Given the description of an element on the screen output the (x, y) to click on. 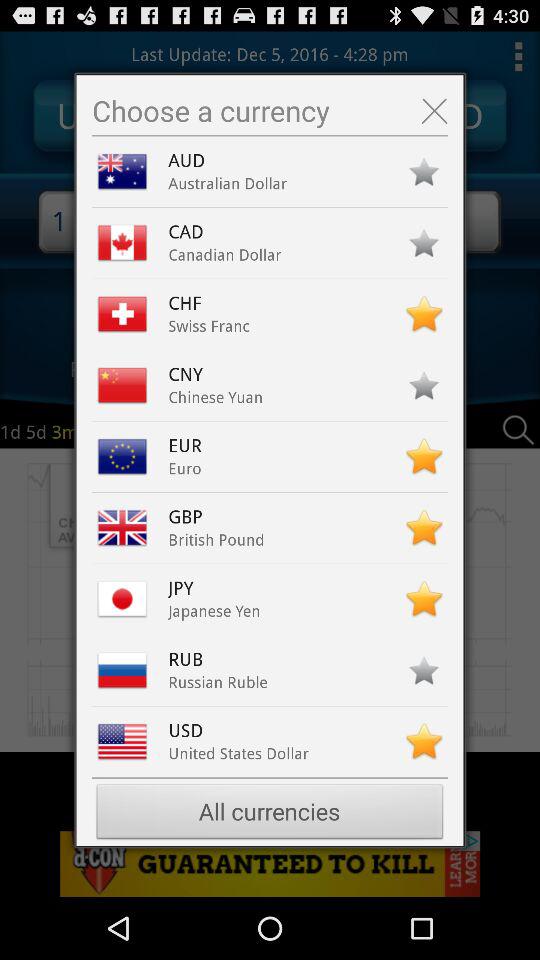
turn off canadian dollar item (224, 254)
